Given the description of an element on the screen output the (x, y) to click on. 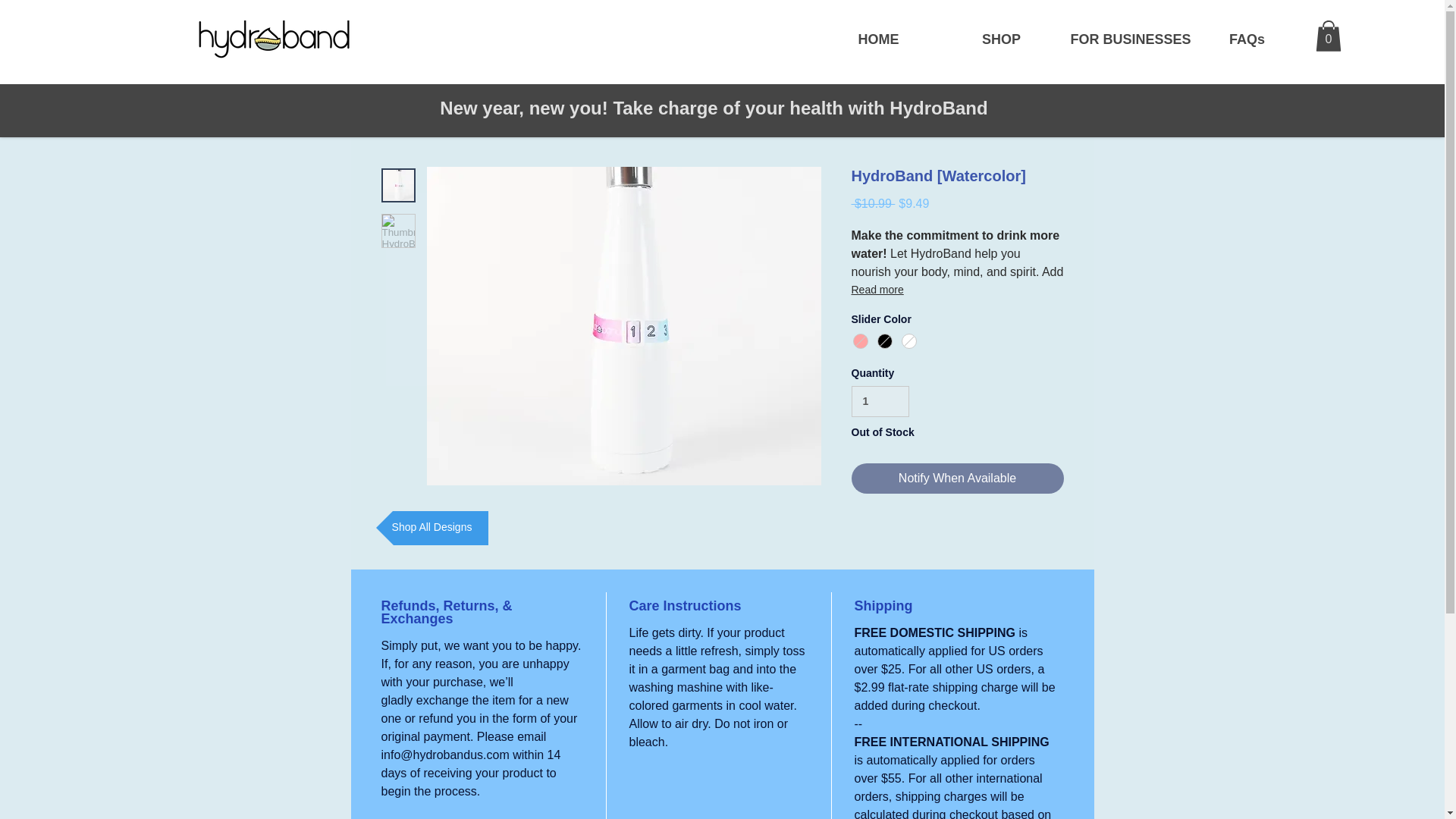
Read more (956, 289)
SHOP (1001, 39)
1 (879, 400)
Notify When Available (956, 478)
FOR BUSINESSES (1124, 39)
HOME (878, 39)
FAQs (1247, 39)
Shop All Designs (431, 528)
